Given the description of an element on the screen output the (x, y) to click on. 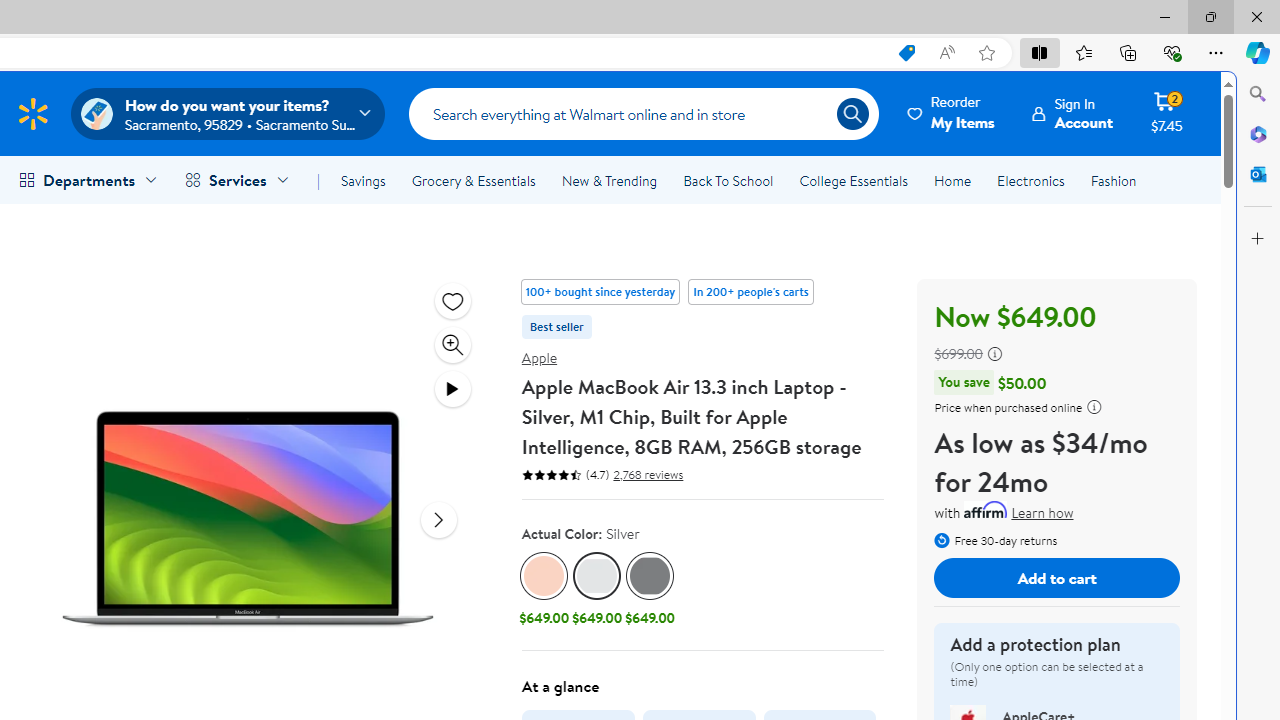
Zoom image modal (452, 344)
Affirm (985, 509)
Space Gray (649, 575)
selected, Silver, $649.00 (596, 591)
Electronics (1030, 180)
